Given the description of an element on the screen output the (x, y) to click on. 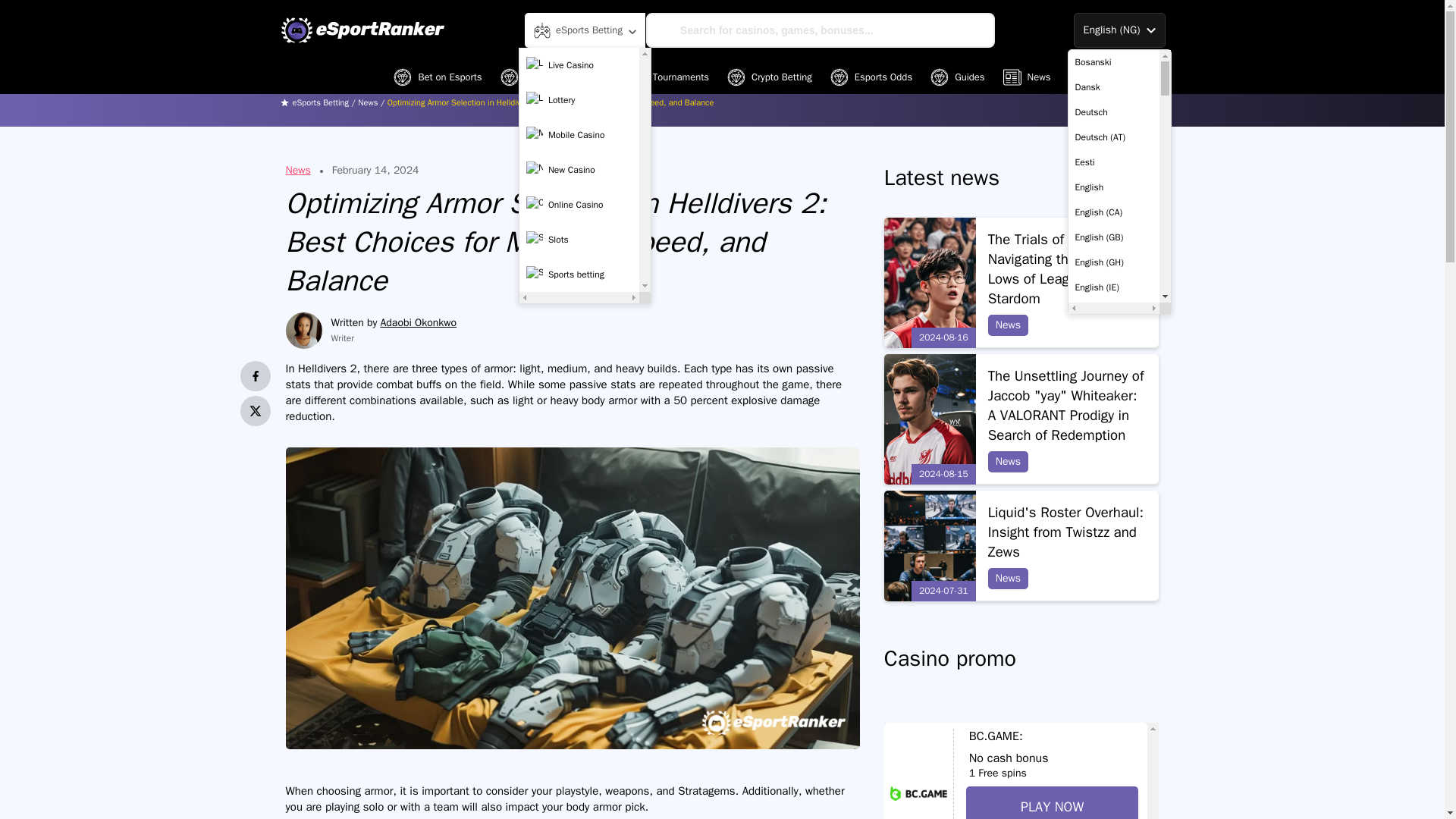
Mobile Casino (579, 134)
Slots (579, 239)
Dansk (1113, 87)
Live Casino (579, 64)
Lottery (579, 99)
Online Casino (579, 204)
Eesti (1113, 162)
Hrvatski (1113, 809)
Deutsch (1113, 112)
Sports betting (579, 274)
